Given the description of an element on the screen output the (x, y) to click on. 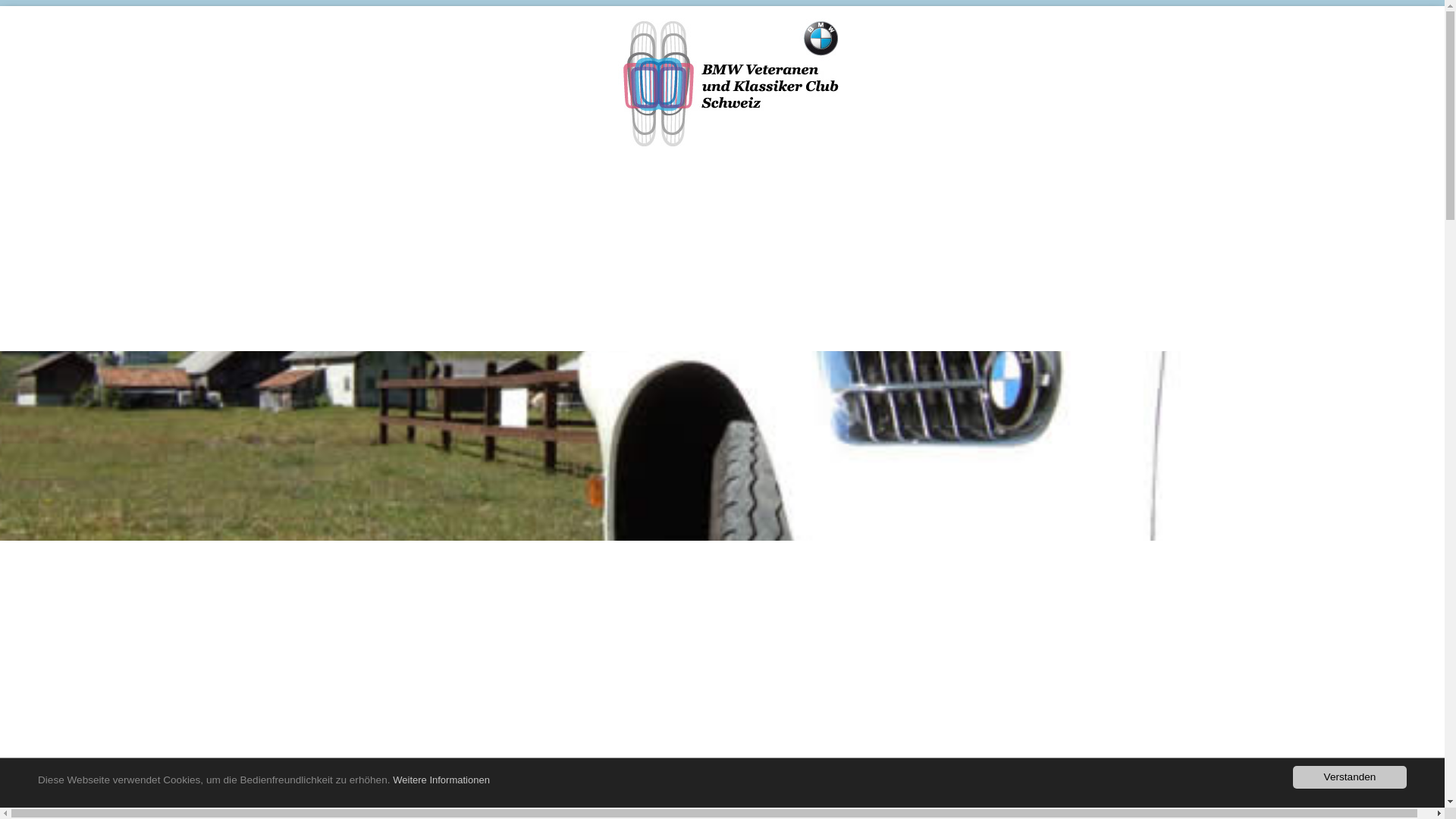
Verstanden Element type: text (1349, 776)
Weitere Informationen Element type: text (440, 779)
